Given the description of an element on the screen output the (x, y) to click on. 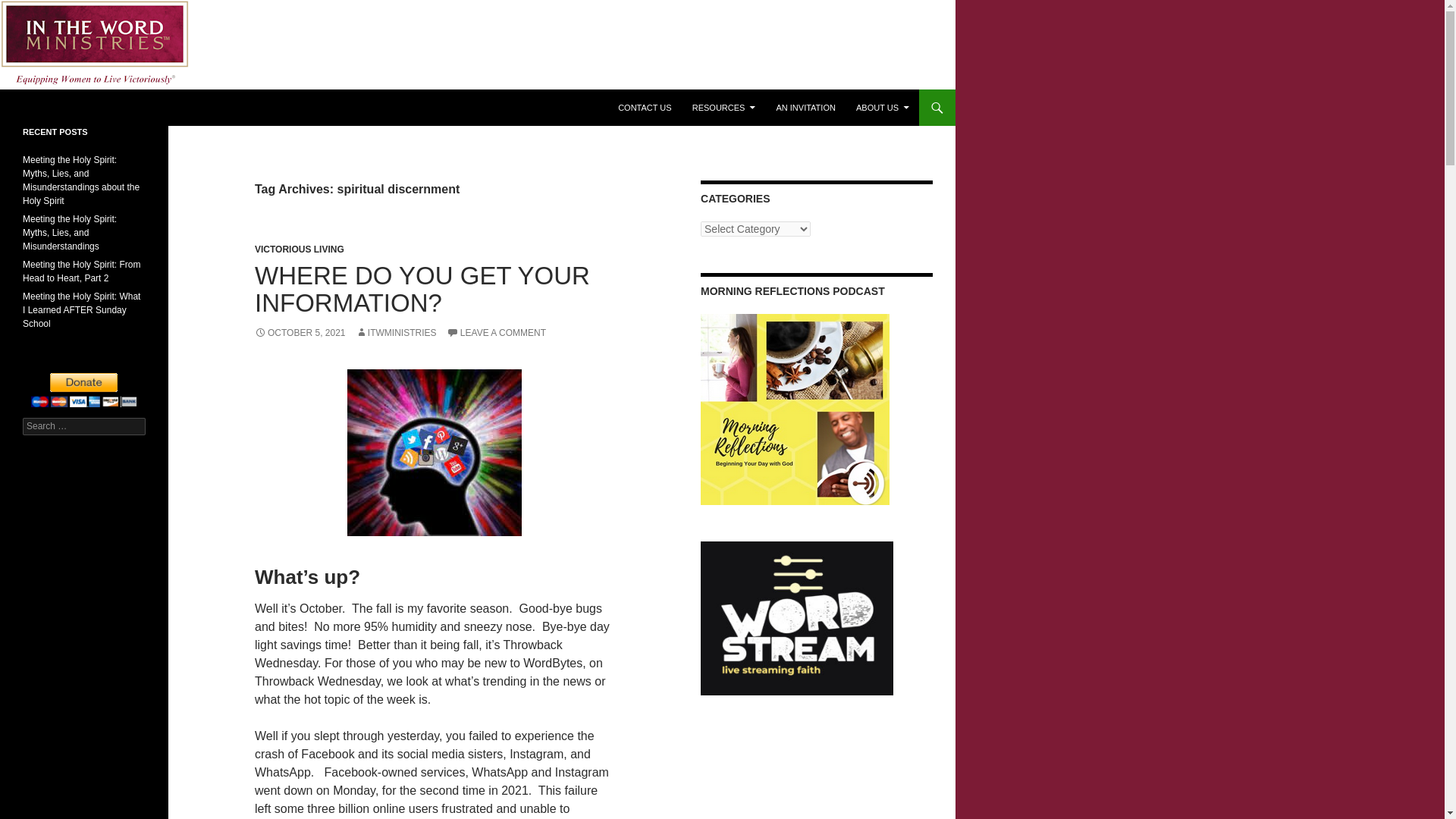
WHERE DO YOU GET YOUR INFORMATION? (421, 288)
VICTORIOUS LIVING (298, 249)
AN INVITATION (805, 107)
In The Word Ministries (95, 107)
RESOURCES (723, 107)
OCTOBER 5, 2021 (300, 332)
LEAVE A COMMENT (496, 332)
CONTACT US (644, 107)
Christian Devotion-In The Word MinistriesKC  (794, 409)
ITWMINISTRIES (395, 332)
ABOUT US (882, 107)
